Given the description of an element on the screen output the (x, y) to click on. 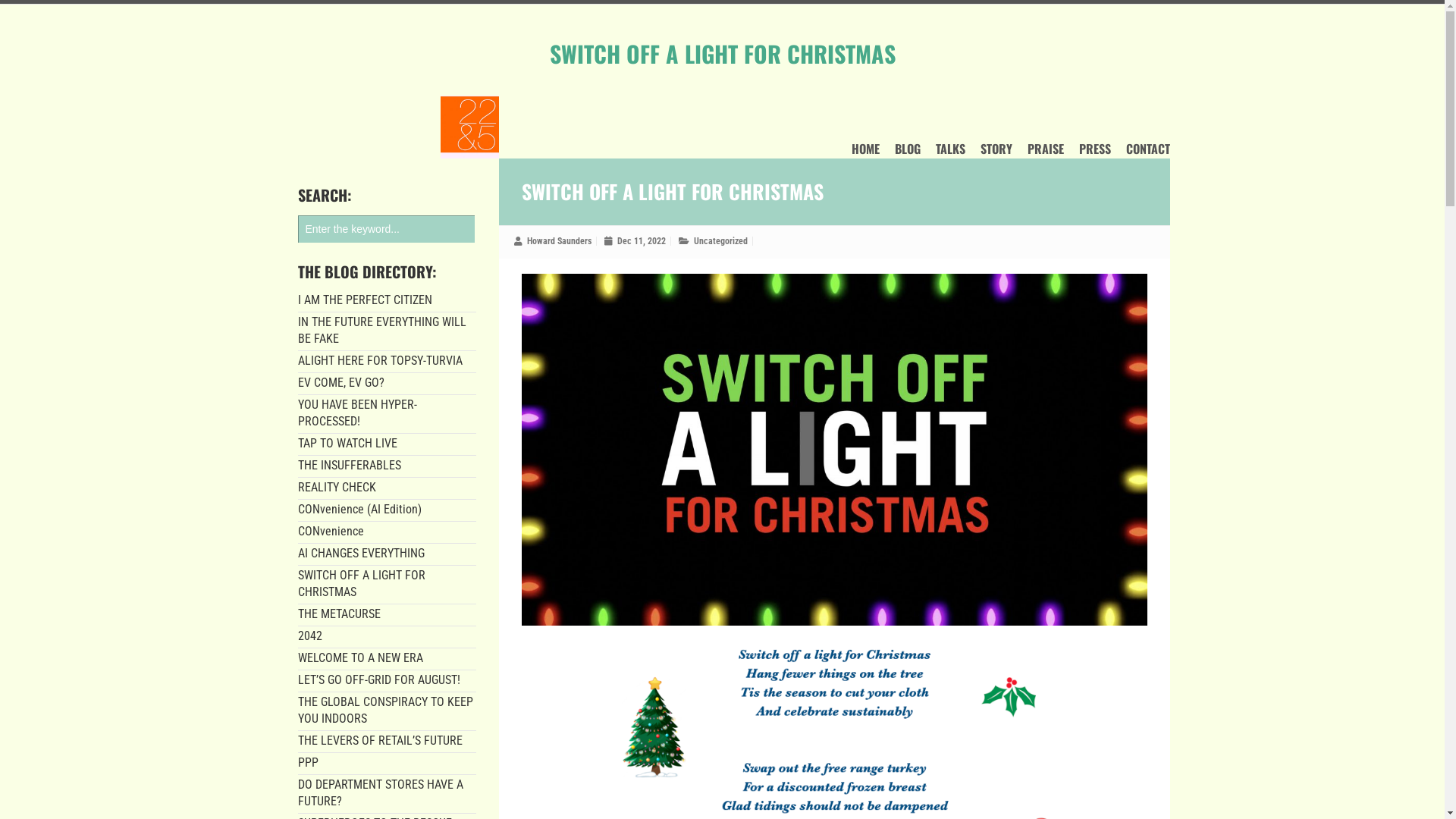
Howard Saunders Element type: text (558, 240)
THE INSUFFERABLES Element type: text (348, 465)
CONvenience Element type: text (330, 531)
2042 Element type: text (309, 635)
REALITY CHECK Element type: text (336, 487)
YOU HAVE BEEN HYPER-PROCESSED! Element type: text (356, 412)
CONTACT Element type: text (1147, 151)
ALIGHT HERE FOR TOPSY-TURVIA Element type: text (379, 360)
BLOG Element type: text (907, 151)
DO DEPARTMENT STORES HAVE A FUTURE? Element type: text (379, 792)
THE METACURSE Element type: text (338, 613)
SWITCH OFF A LIGHT FOR CHRISTMAS Element type: text (360, 583)
EV COME, EV GO? Element type: text (340, 382)
I AM THE PERFECT CITIZEN Element type: text (364, 299)
Uncategorized Element type: text (719, 240)
TALKS Element type: text (950, 151)
WELCOME TO A NEW ERA Element type: text (359, 657)
PPP Element type: text (307, 762)
CONvenience (AI Edition) Element type: text (358, 509)
HOME Element type: text (864, 151)
PRAISE Element type: text (1044, 151)
THE GLOBAL CONSPIRACY TO KEEP YOU INDOORS Element type: text (384, 709)
AI CHANGES EVERYTHING Element type: text (360, 553)
PRESS Element type: text (1094, 151)
STORY Element type: text (995, 151)
TAP TO WATCH LIVE Element type: text (346, 443)
IN THE FUTURE EVERYTHING WILL BE FAKE Element type: text (381, 329)
